Given the description of an element on the screen output the (x, y) to click on. 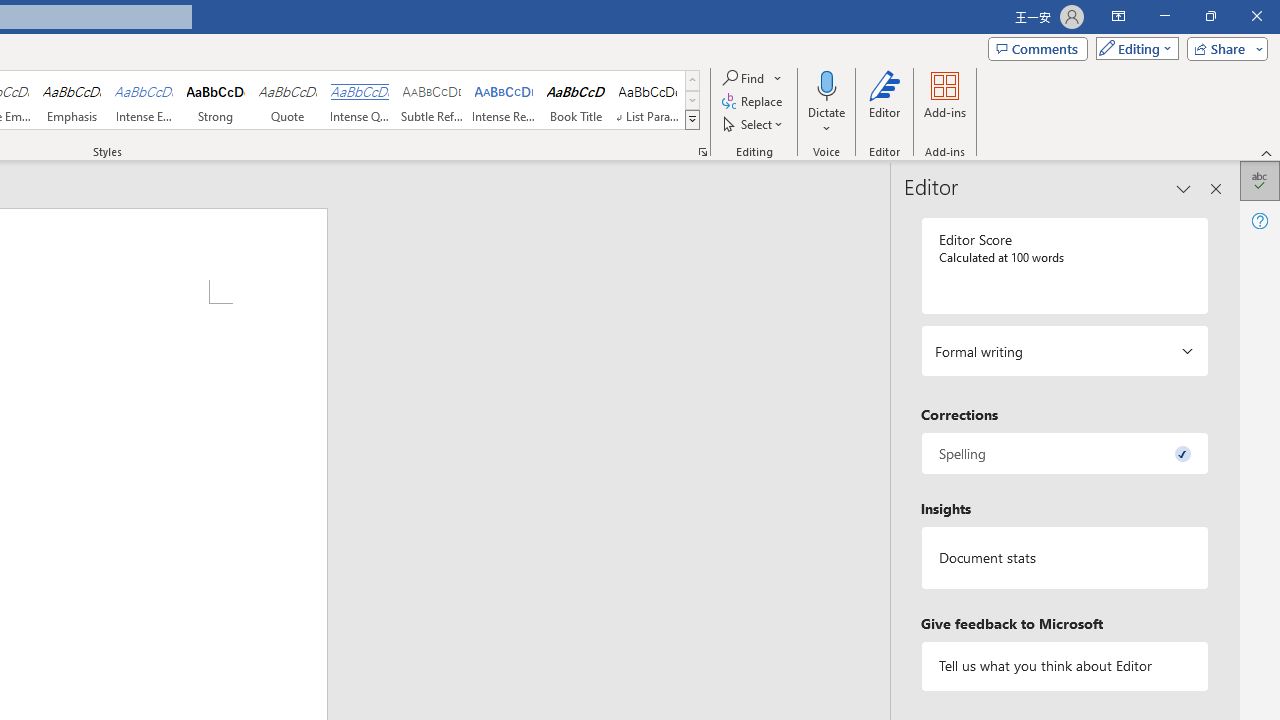
Select (754, 124)
Emphasis (71, 100)
Row Down (692, 100)
Replace... (753, 101)
Styles... (702, 151)
Document statistics (1064, 557)
Intense Reference (504, 100)
Spelling, 0 issues. Press space or enter to review items. (1064, 452)
Quote (287, 100)
